Given the description of an element on the screen output the (x, y) to click on. 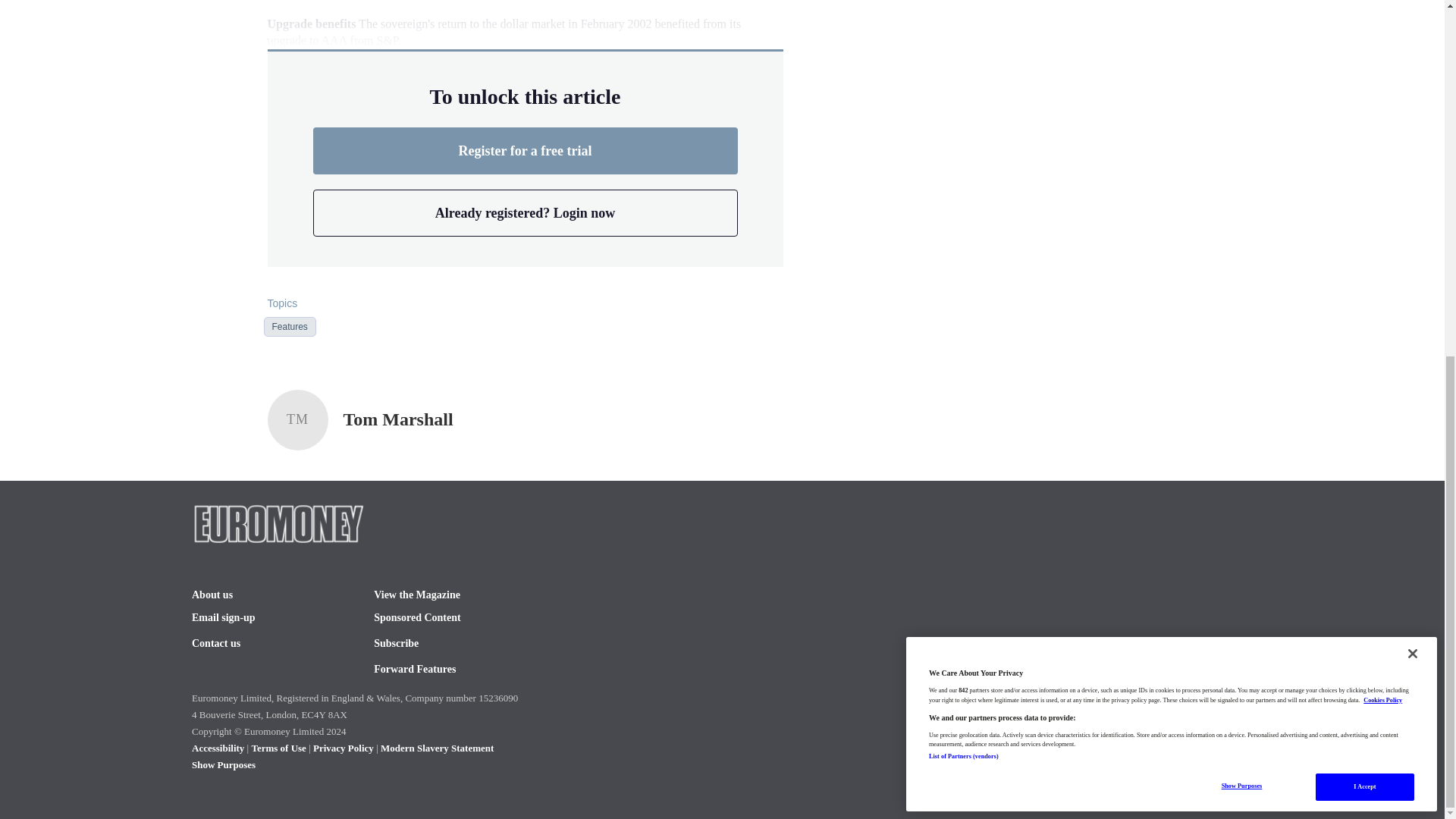
3rd party ad content (979, 8)
